Given the description of an element on the screen output the (x, y) to click on. 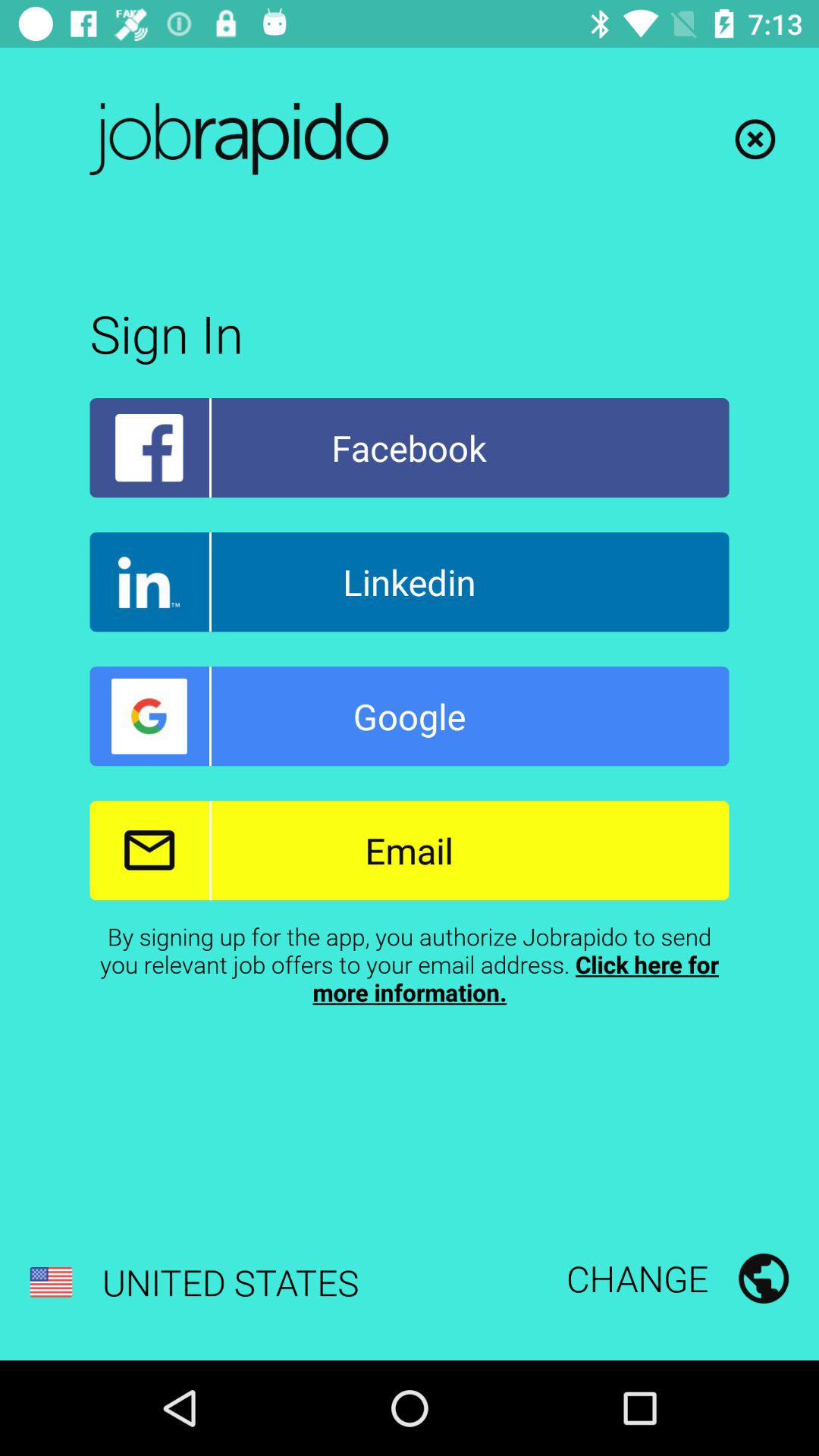
choose change icon (677, 1278)
